Given the description of an element on the screen output the (x, y) to click on. 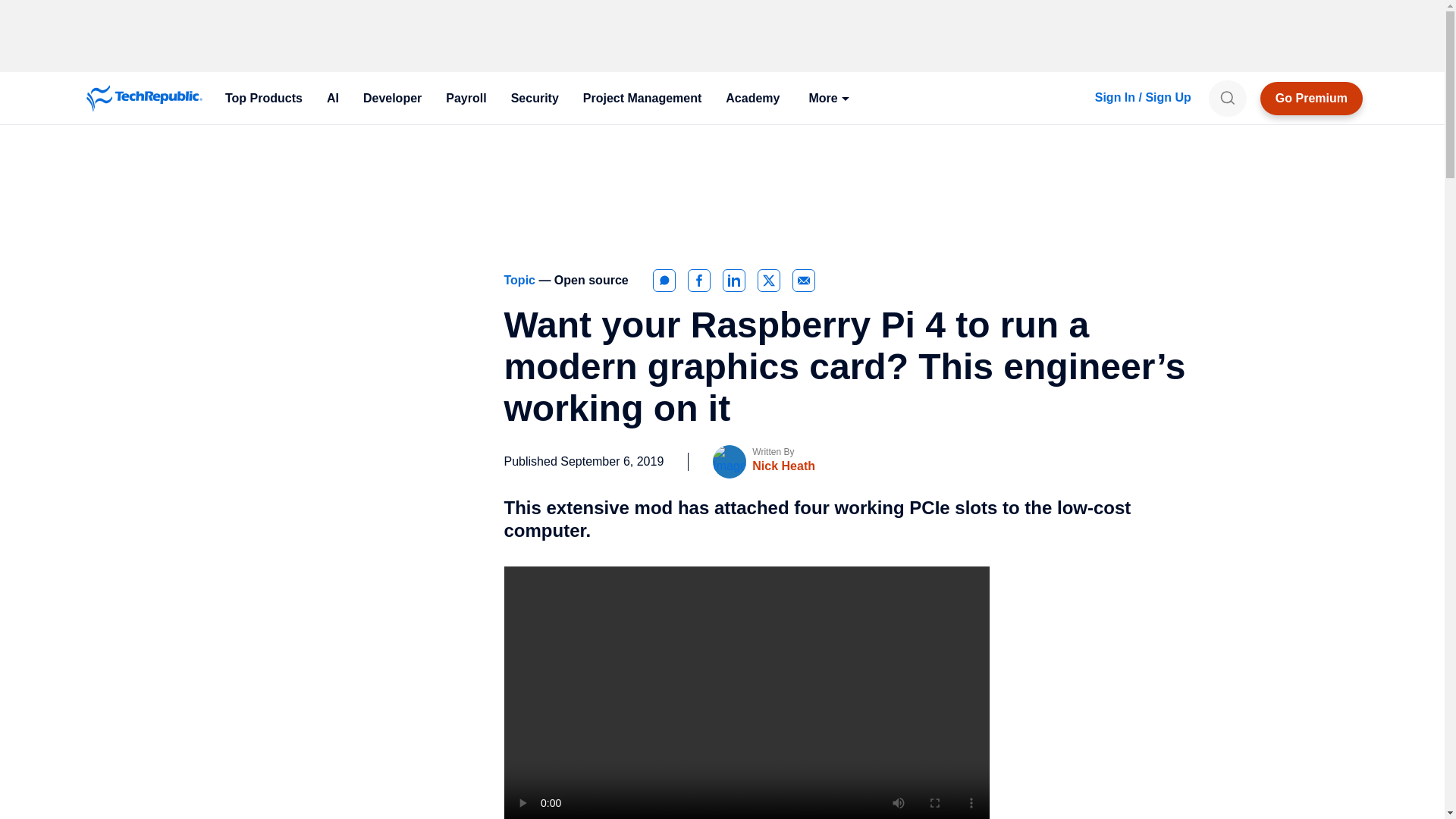
TechRepublic (143, 98)
TechRepublic (143, 98)
TechRepublic Premium (1311, 98)
Payroll (465, 98)
Academy (752, 98)
TechRepublic (143, 98)
Go Premium (1311, 98)
Project Management (641, 98)
Security (534, 98)
Topic (520, 279)
